Given the description of an element on the screen output the (x, y) to click on. 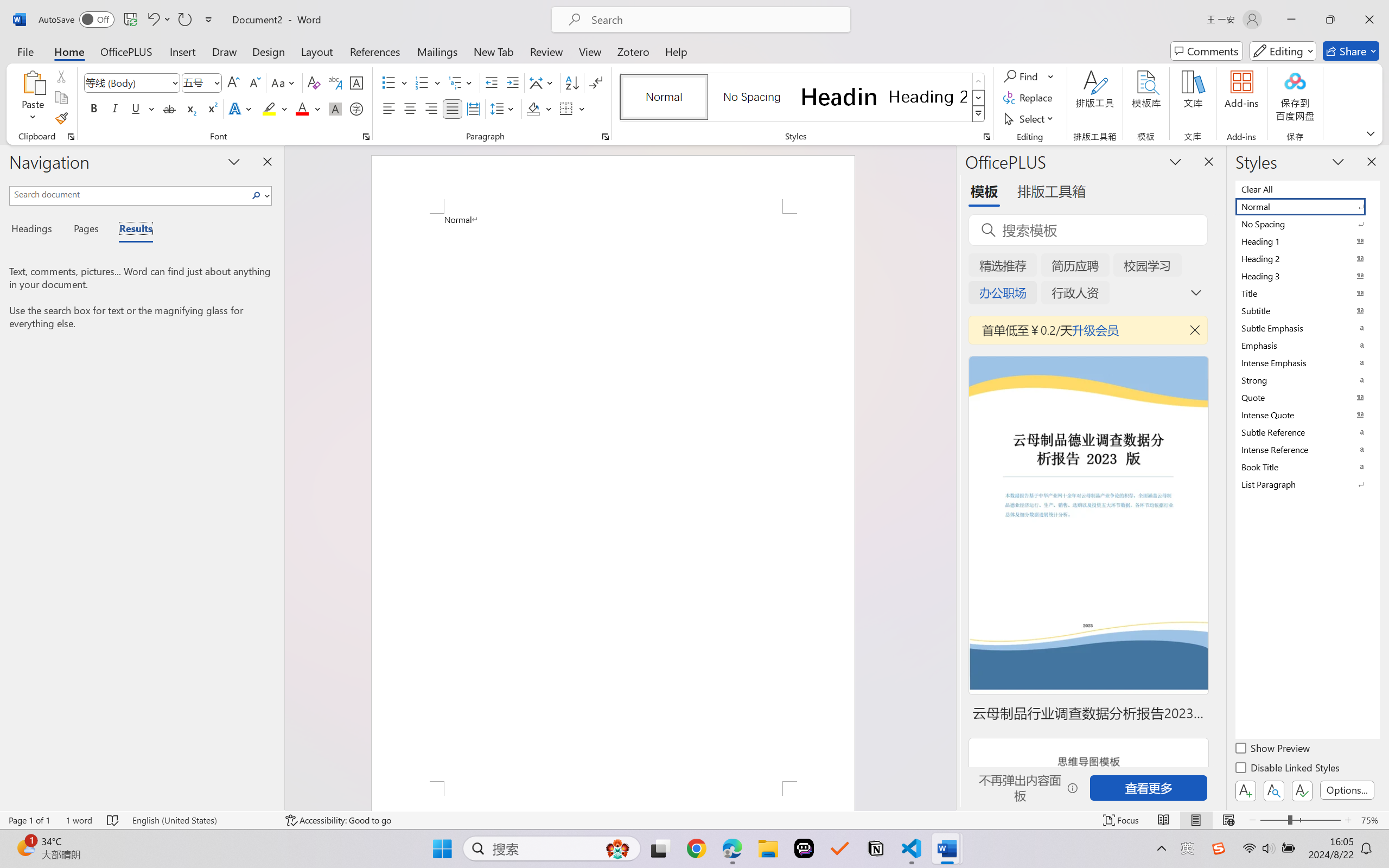
Font Color (308, 108)
Bullets (395, 82)
Focus  (1121, 819)
Clear All (1306, 188)
Cut (60, 75)
Numbering (421, 82)
Decrease Indent (491, 82)
Strikethrough (169, 108)
Quick Access Toolbar (127, 19)
Close (1369, 19)
Office Clipboard... (70, 136)
Heading 2 (927, 96)
